Given the description of an element on the screen output the (x, y) to click on. 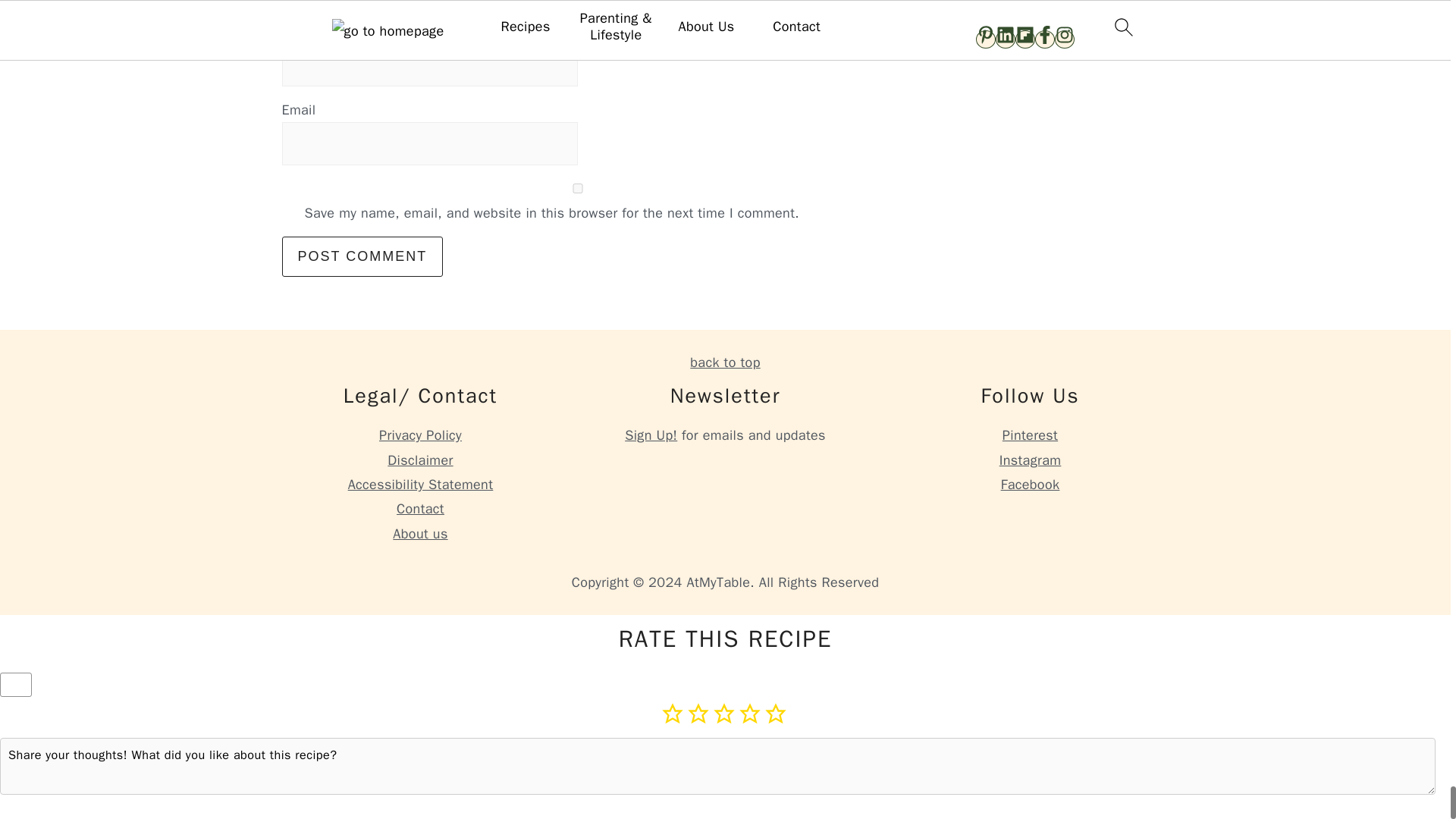
yes (577, 188)
Post Comment (363, 256)
